Given the description of an element on the screen output the (x, y) to click on. 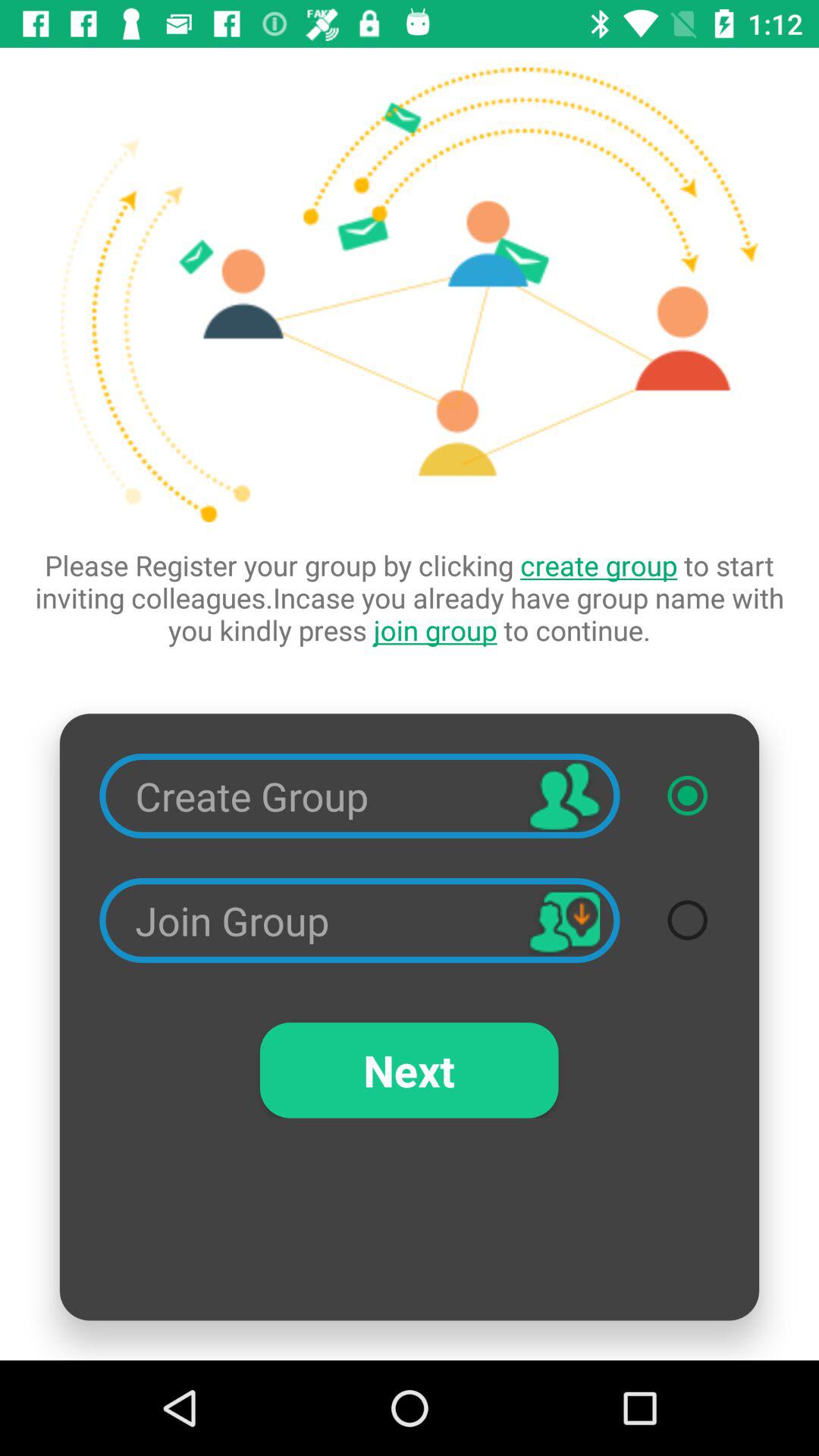
click item below please register your icon (687, 795)
